Given the description of an element on the screen output the (x, y) to click on. 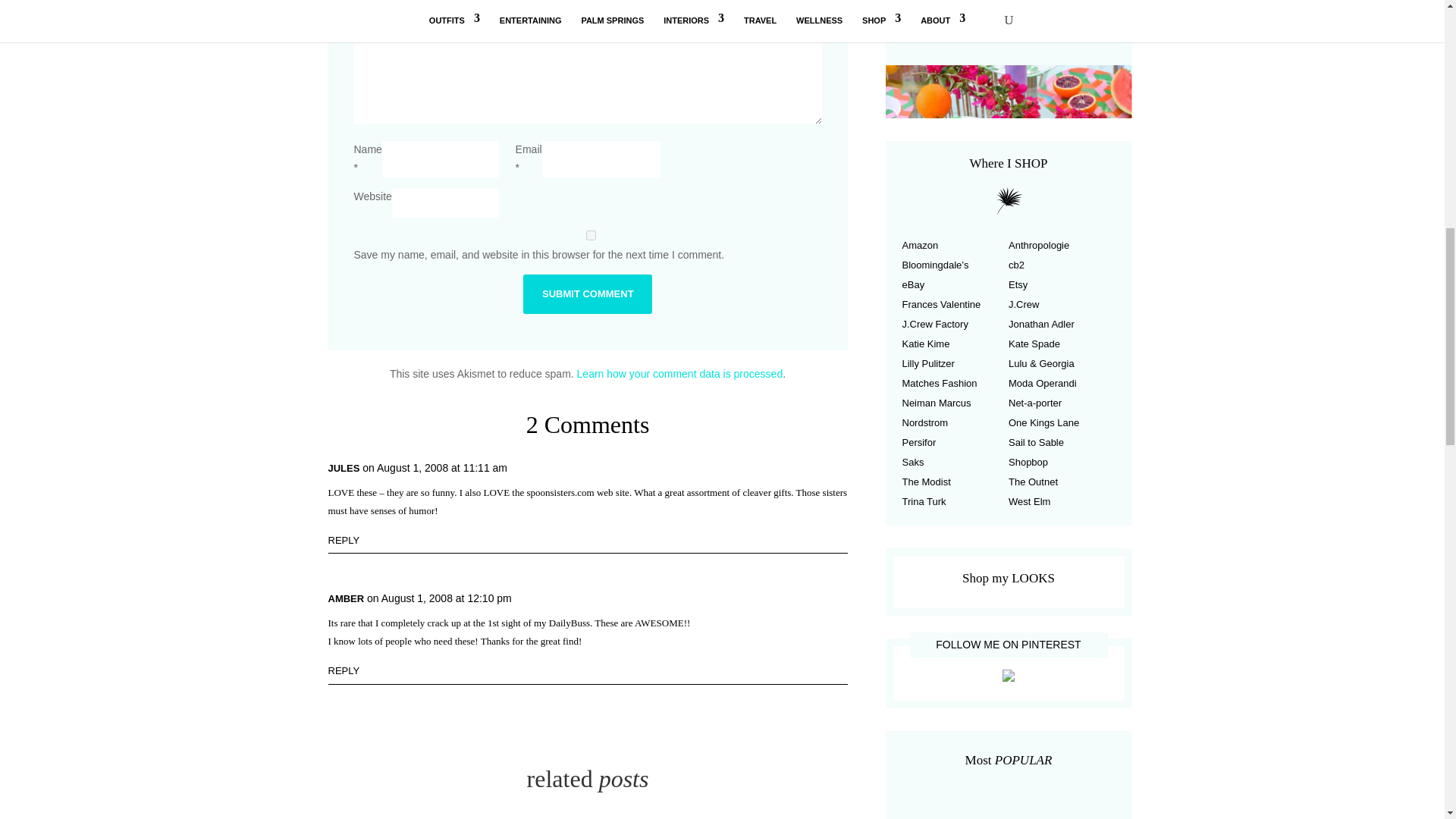
Submit Comment (587, 293)
yes (590, 235)
